Given the description of an element on the screen output the (x, y) to click on. 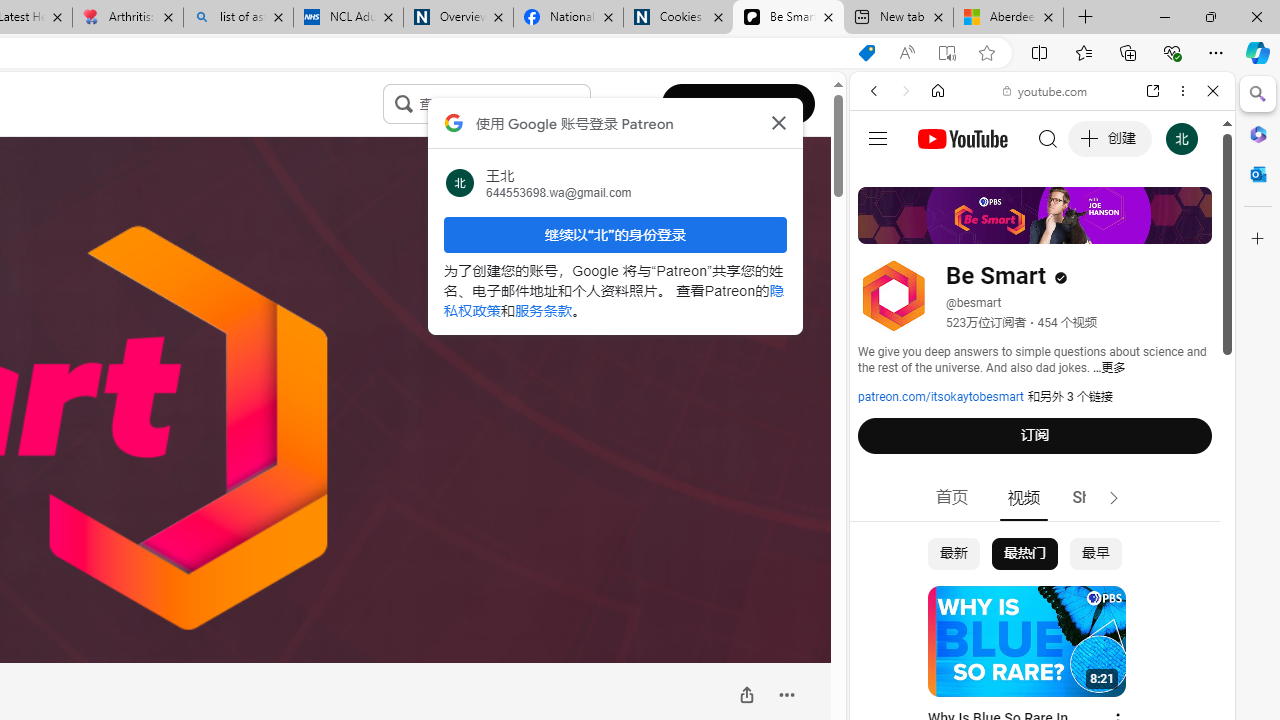
VIDEOS (1006, 228)
Search the web (1051, 137)
Search Filter, Search Tools (1093, 228)
Preferences (1189, 228)
Search Filter, VIDEOS (1006, 228)
Google (1042, 494)
Class: Bz112c Bz112c-r9oPif (778, 122)
